Given the description of an element on the screen output the (x, y) to click on. 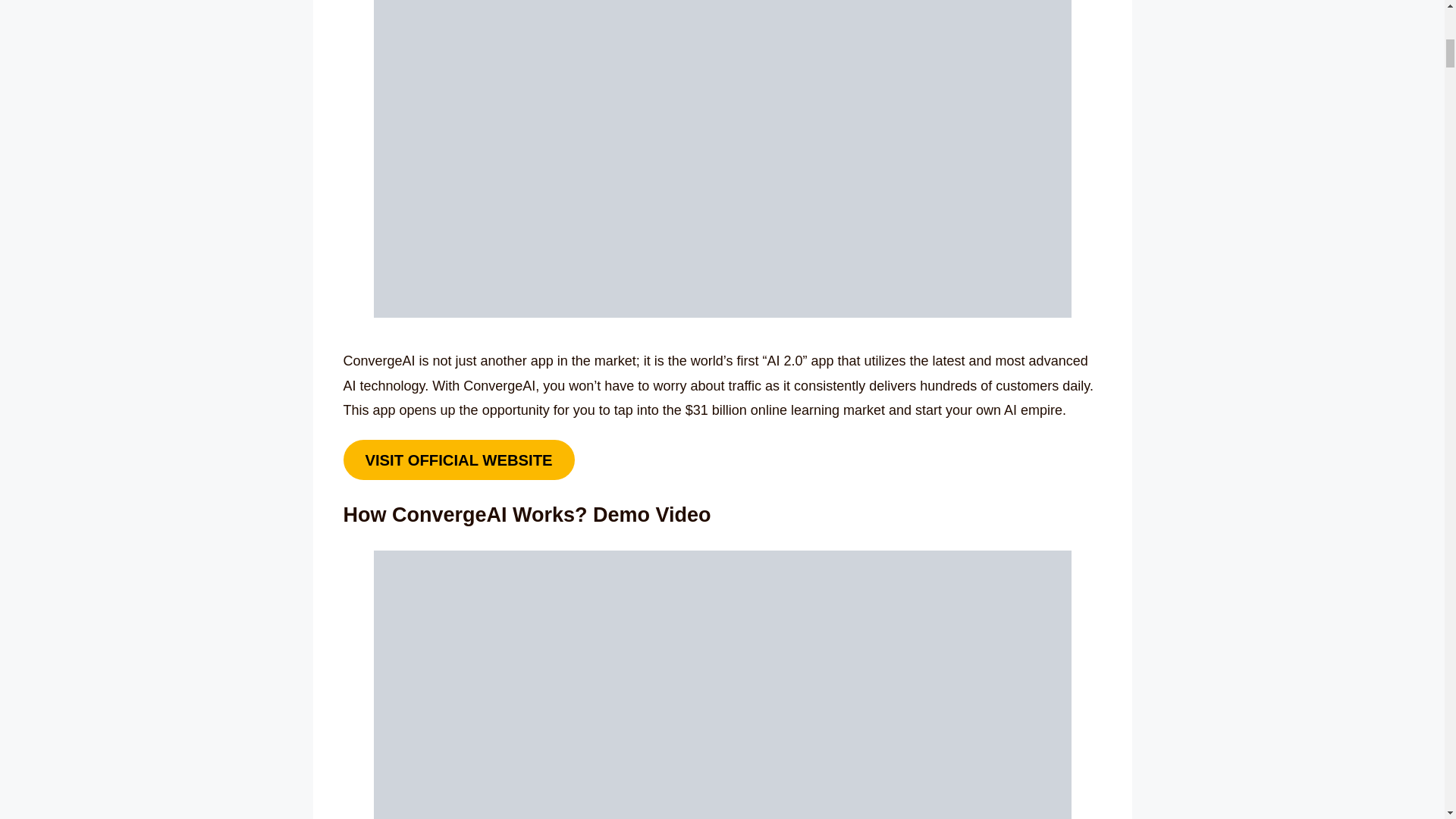
VISIT OFFICIAL WEBSITE (457, 459)
